Given the description of an element on the screen output the (x, y) to click on. 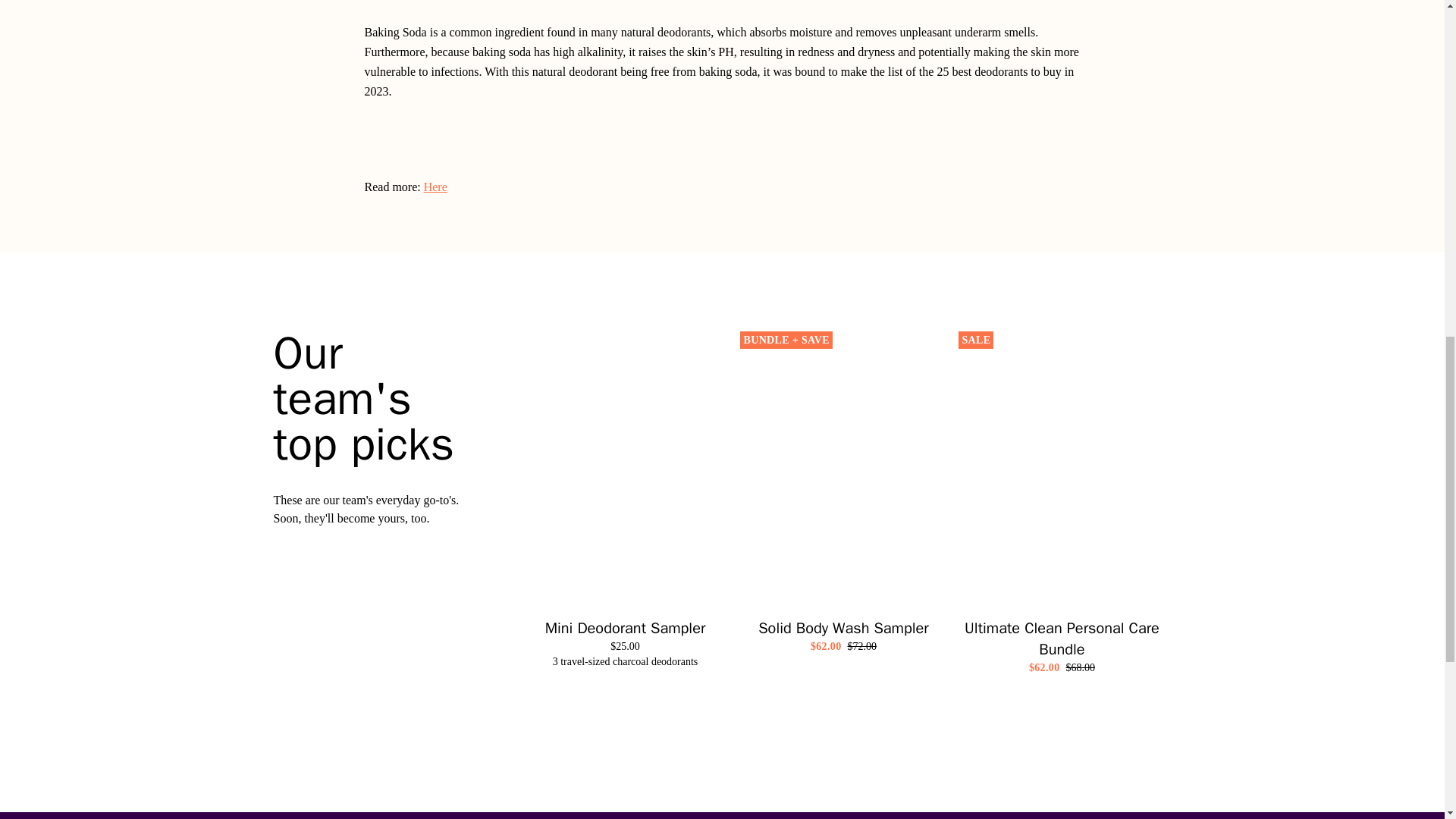
US Weekly - 25 Best Natural Deodorants in 2024  (434, 186)
